Given the description of an element on the screen output the (x, y) to click on. 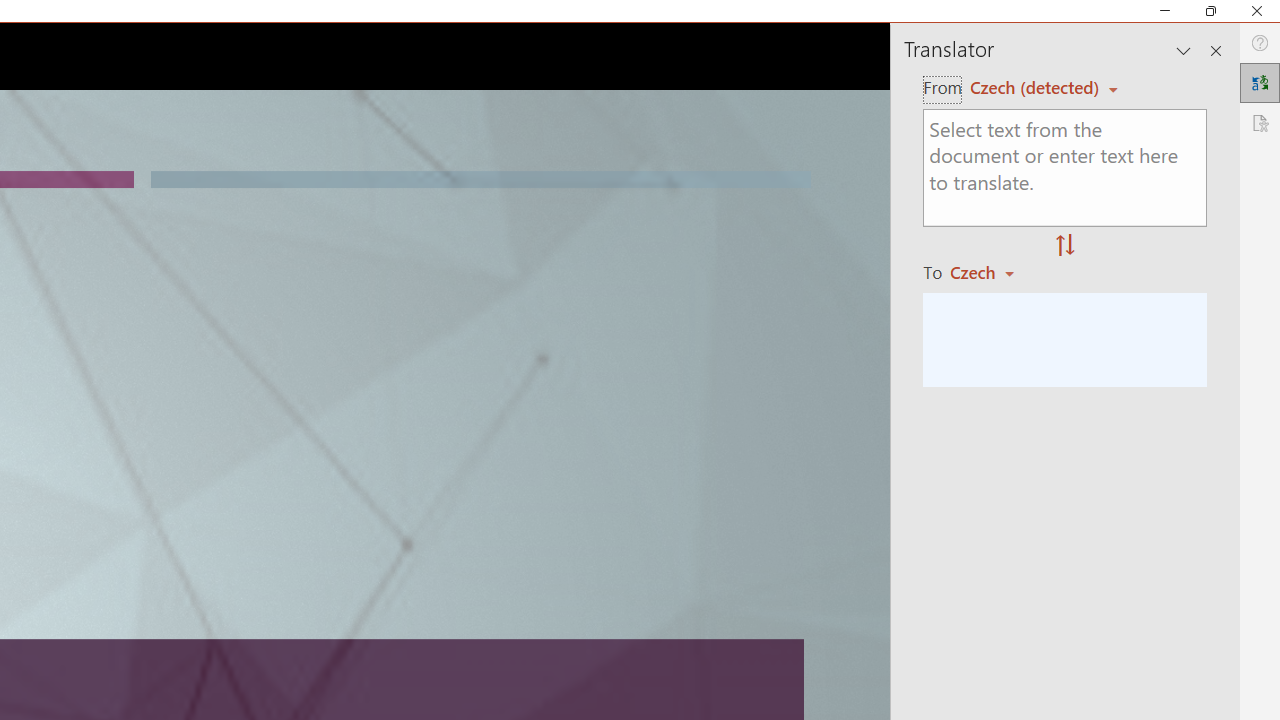
Czech (991, 272)
Czech (detected) (1037, 87)
